Given the description of an element on the screen output the (x, y) to click on. 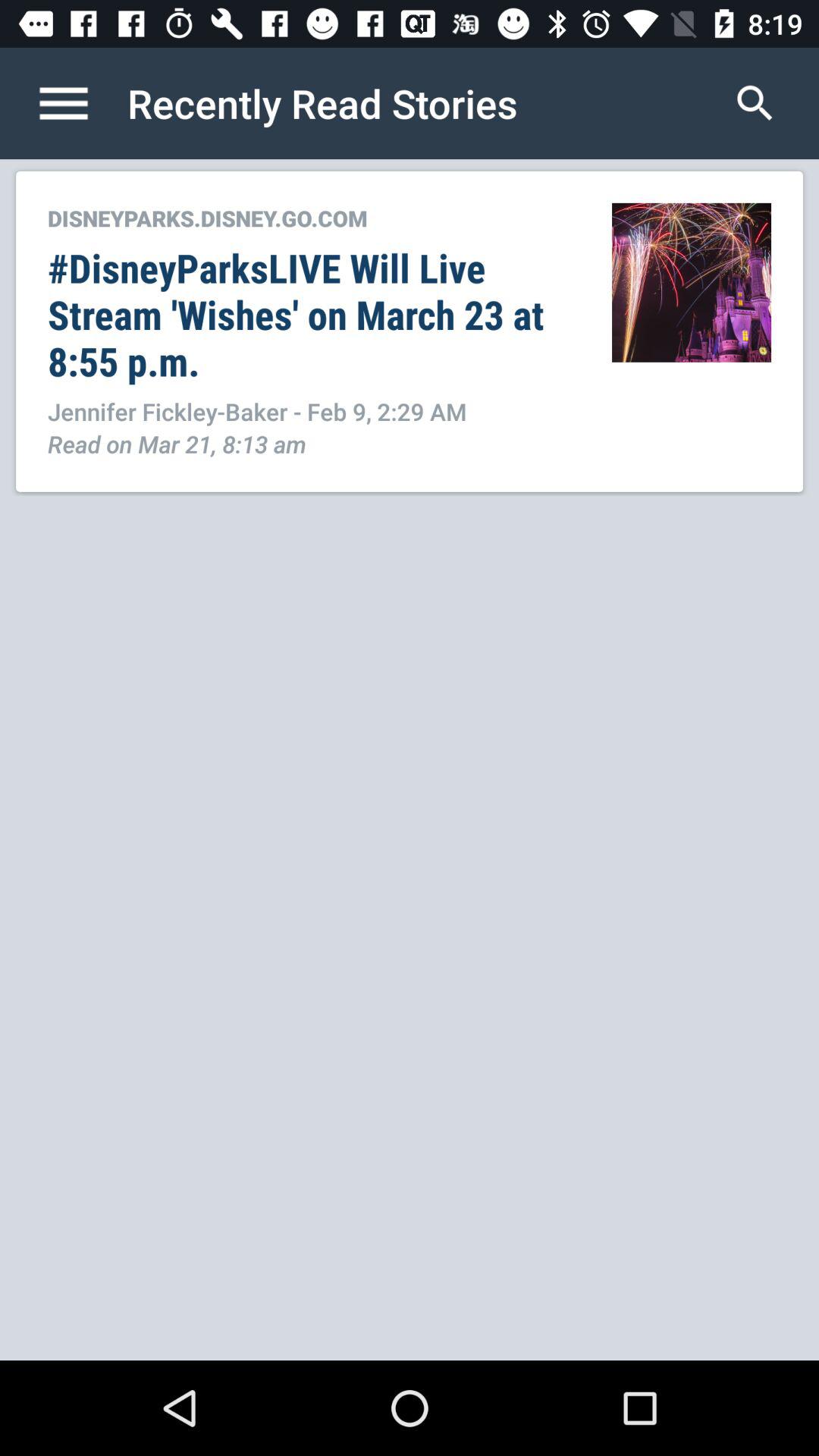
open jennifer fickley baker icon (313, 411)
